Given the description of an element on the screen output the (x, y) to click on. 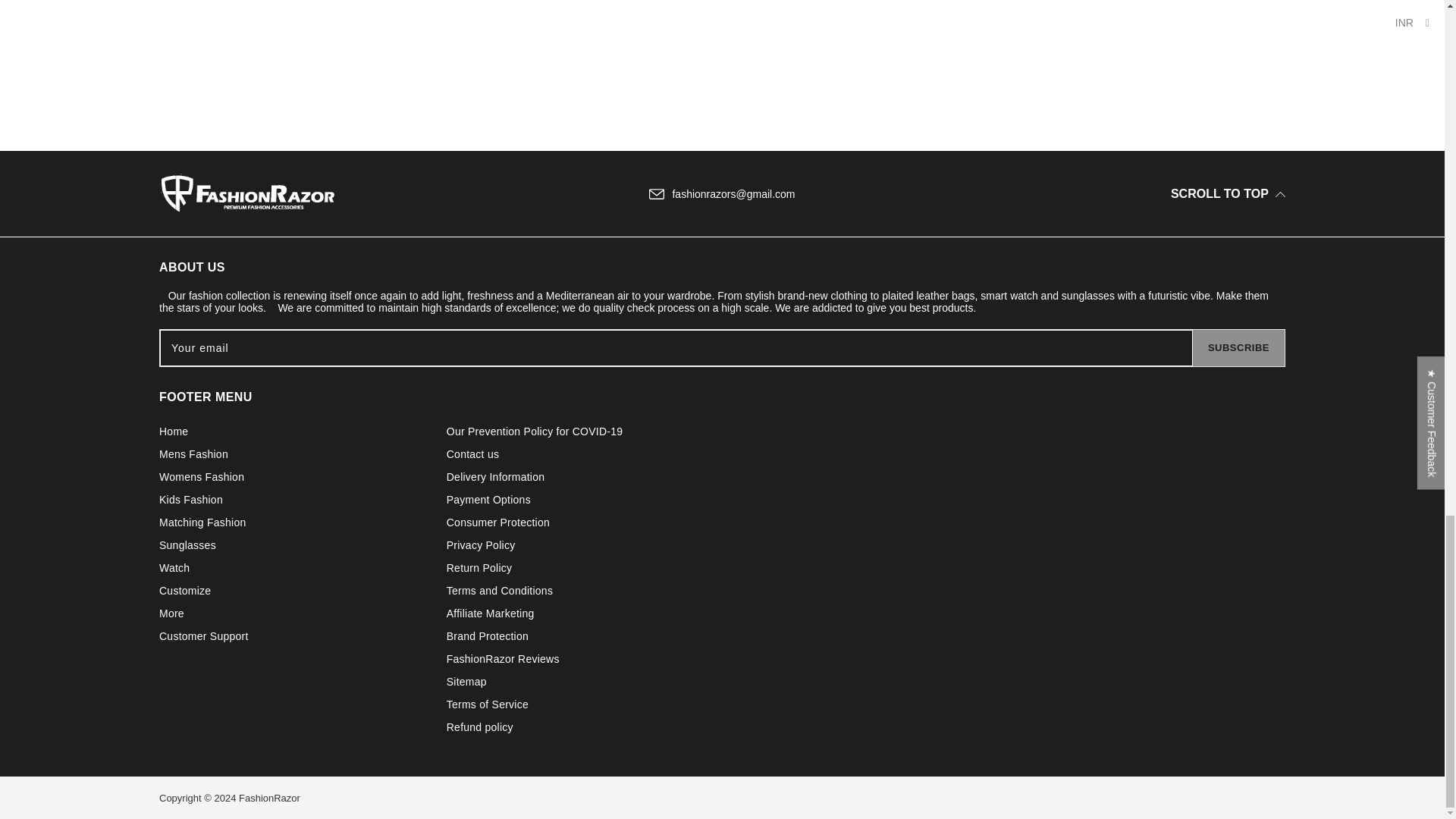
SCROLL TO TOP (1227, 193)
SCROLL TO TOP (1195, 193)
